Given the description of an element on the screen output the (x, y) to click on. 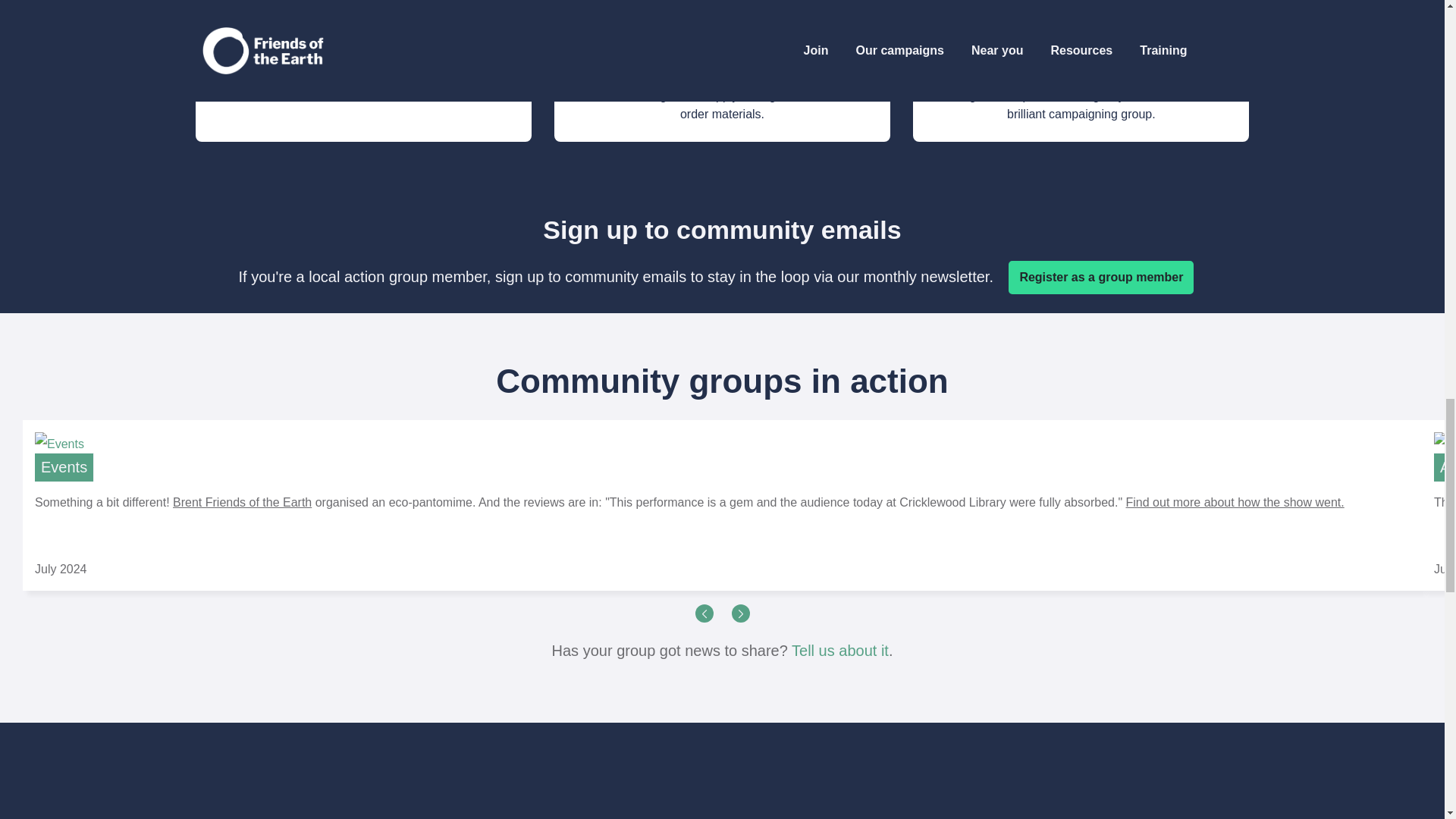
Register as a group member (1101, 277)
Brent Friends of the Earth (242, 502)
Find out more about how the show went. (1234, 502)
Brent Friends of the Earth (242, 502)
